Given the description of an element on the screen output the (x, y) to click on. 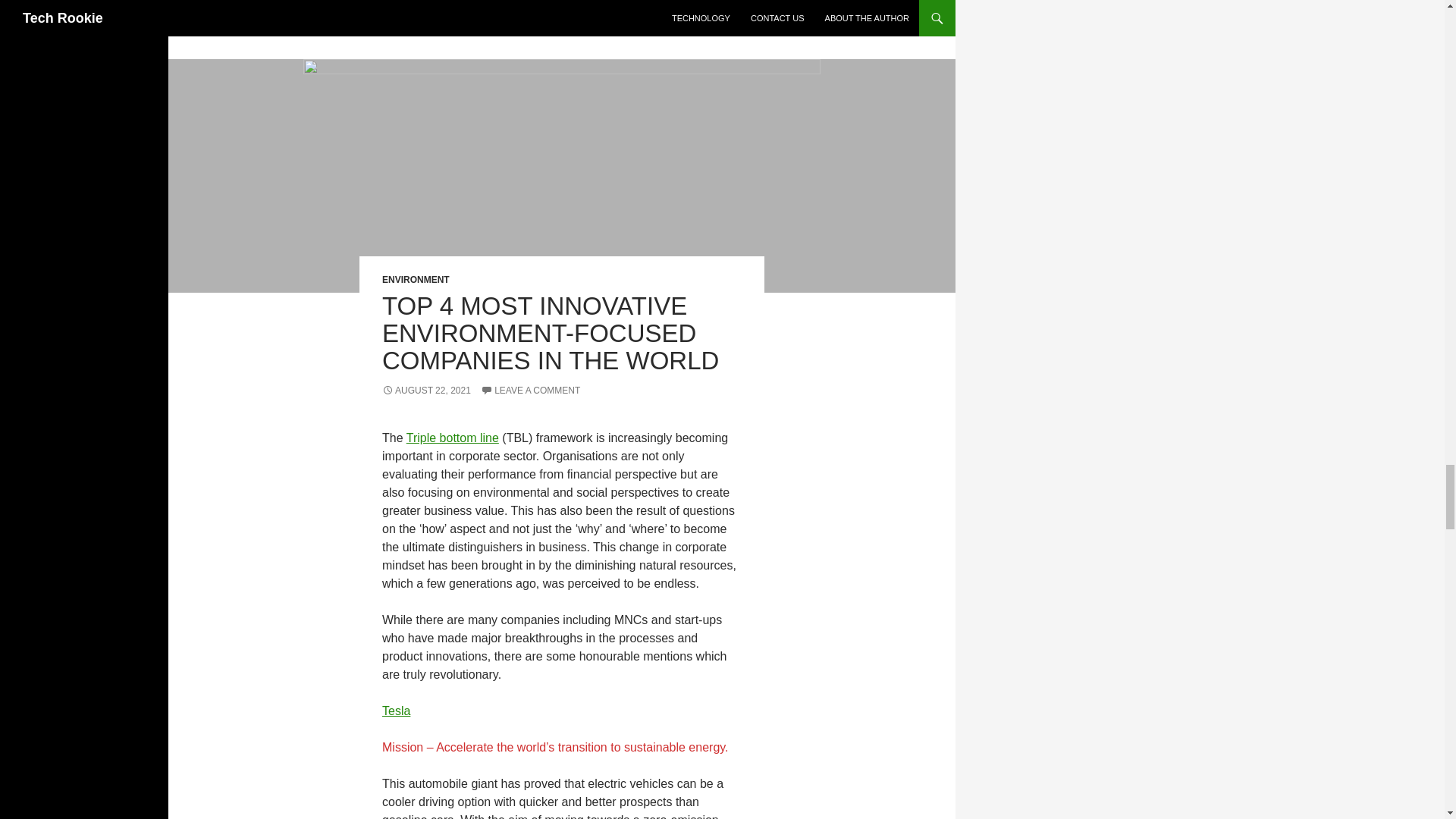
AUGUST 22, 2021 (425, 389)
Tesla (395, 710)
ENVIRONMENT (415, 279)
FEATURED (417, 13)
LEAVE A COMMENT (529, 389)
Triple bottom line (452, 437)
